Given the description of an element on the screen output the (x, y) to click on. 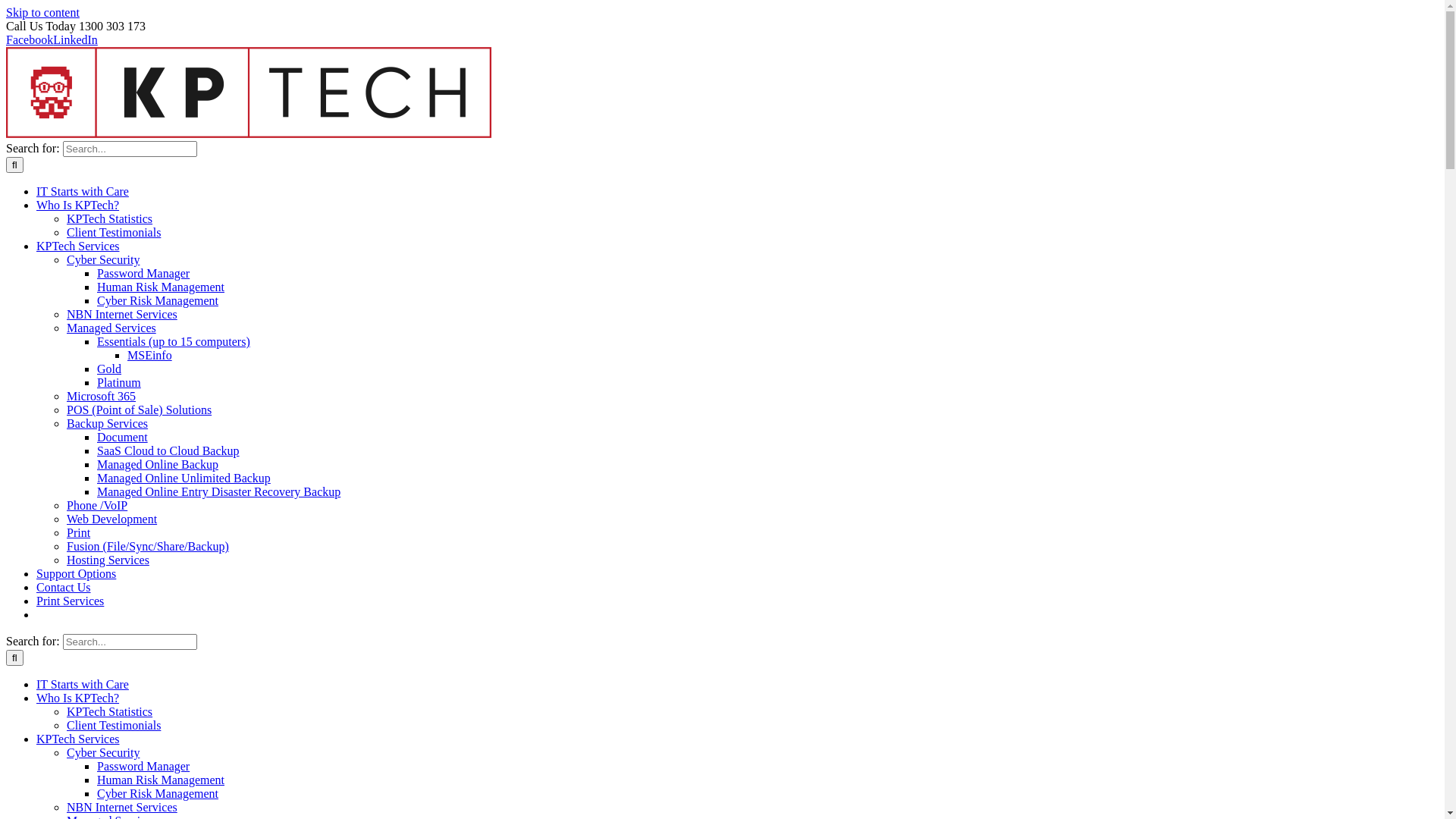
Client Testimonials Element type: text (113, 724)
Essentials (up to 15 computers) Element type: text (173, 341)
KPTech Statistics Element type: text (109, 711)
Hosting Services Element type: text (107, 559)
Support Options Element type: text (76, 573)
KPTech Services Element type: text (77, 245)
Managed Online Entry Disaster Recovery Backup Element type: text (218, 491)
Cyber Security Element type: text (102, 259)
Skip to content Element type: text (42, 12)
KPTech Statistics Element type: text (109, 218)
Managed Online Backup Element type: text (157, 464)
Document Element type: text (122, 436)
POS (Point of Sale) Solutions Element type: text (138, 409)
Print Element type: text (78, 532)
Password Manager Element type: text (143, 272)
Cyber Security Element type: text (102, 752)
LinkedIn Element type: text (75, 39)
KPTech Services Element type: text (77, 738)
Client Testimonials Element type: text (113, 231)
Print Services Element type: text (69, 600)
Microsoft 365 Element type: text (100, 395)
Web Development Element type: text (111, 518)
Platinum Element type: text (119, 382)
Cyber Risk Management Element type: text (157, 793)
Password Manager Element type: text (143, 765)
IT Starts with Care Element type: text (82, 191)
Contact Us Element type: text (63, 586)
Facebook Element type: text (29, 39)
Human Risk Management Element type: text (160, 286)
Human Risk Management Element type: text (160, 779)
Who Is KPTech? Element type: text (77, 204)
MSEinfo Element type: text (149, 354)
Gold Element type: text (109, 368)
Phone /VoIP Element type: text (96, 504)
IT Starts with Care Element type: text (82, 683)
Backup Services Element type: text (106, 423)
NBN Internet Services Element type: text (121, 313)
Cyber Risk Management Element type: text (157, 300)
Who Is KPTech? Element type: text (77, 697)
Managed Online Unlimited Backup Element type: text (183, 477)
Managed Services Element type: text (111, 327)
Fusion (File/Sync/Share/Backup) Element type: text (147, 545)
SaaS Cloud to Cloud Backup Element type: text (168, 450)
NBN Internet Services Element type: text (121, 806)
